Given the description of an element on the screen output the (x, y) to click on. 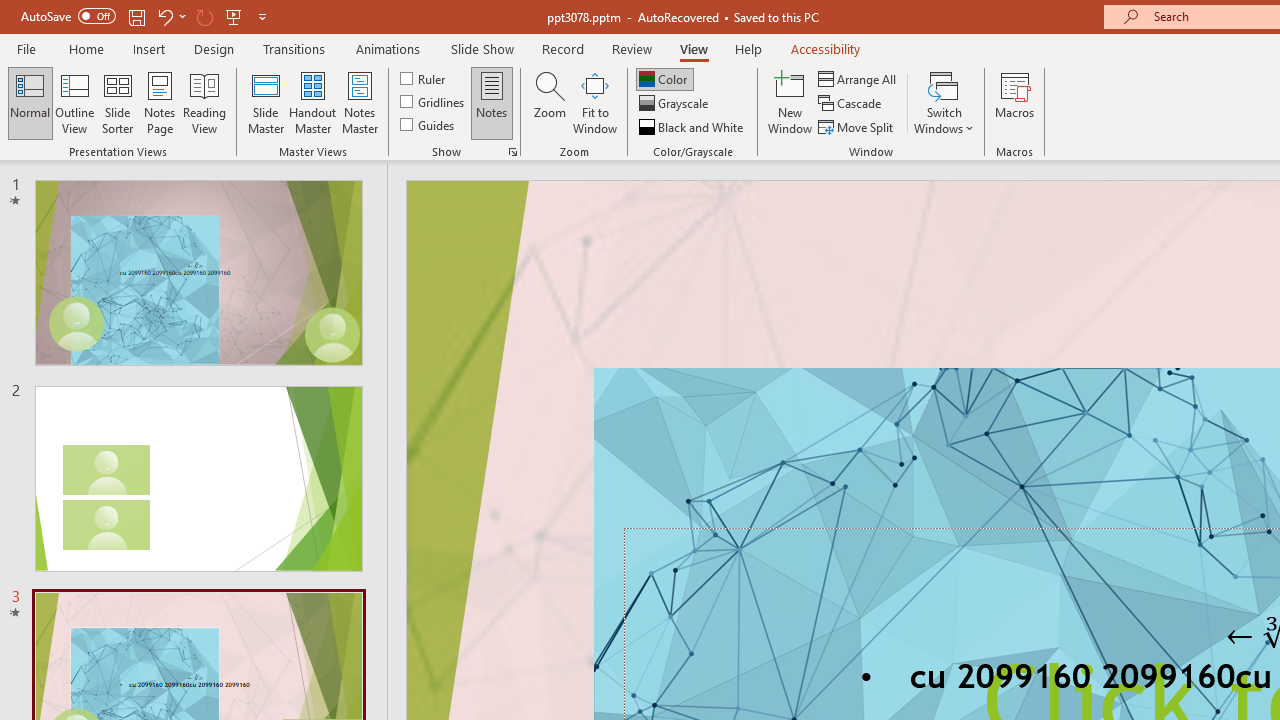
Outline View (74, 102)
Slide Master (265, 102)
